Given the description of an element on the screen output the (x, y) to click on. 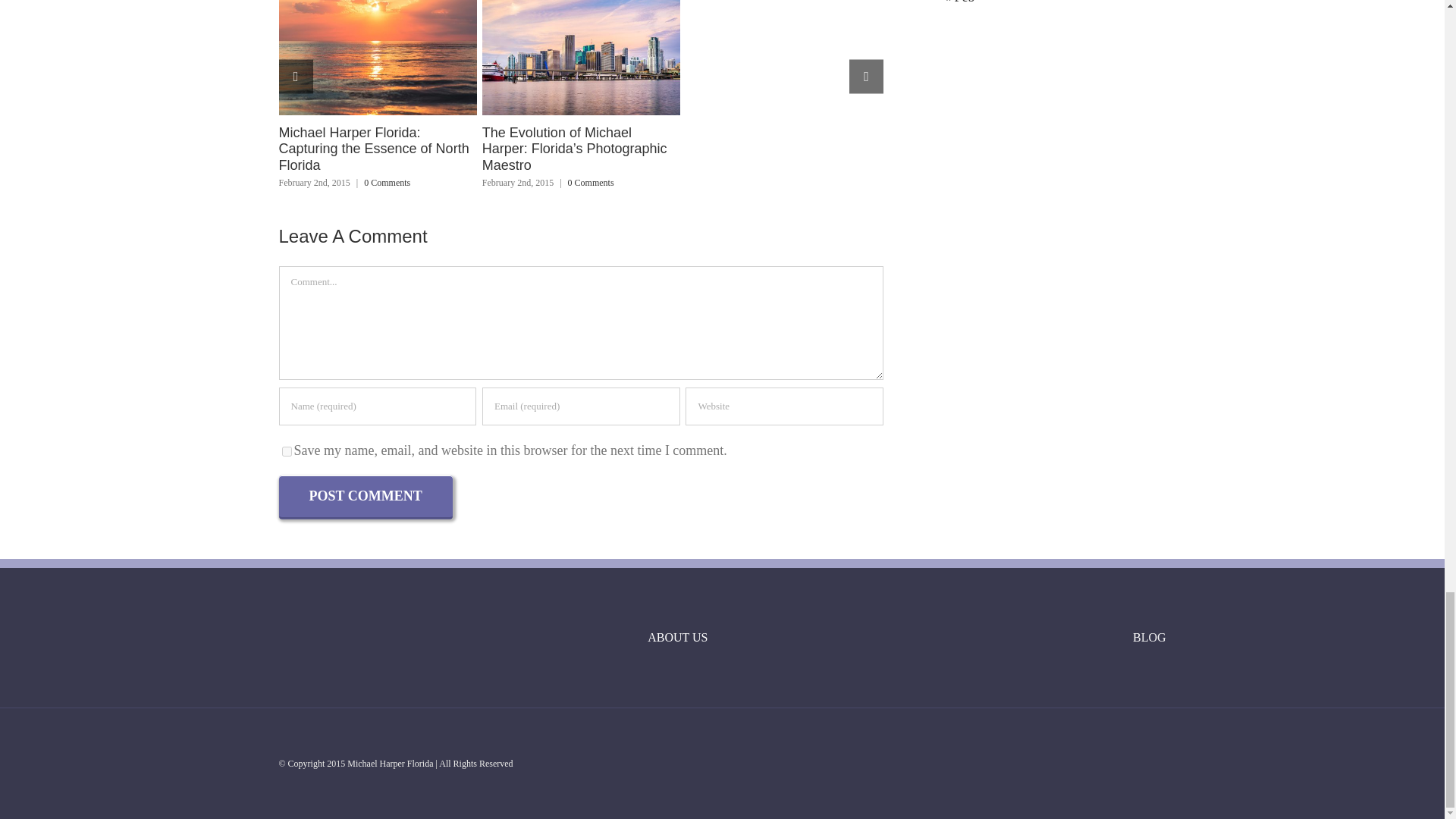
Post Comment (365, 495)
0 Comments (387, 182)
0 Comments (590, 182)
Post Comment (365, 495)
yes (287, 451)
